Given the description of an element on the screen output the (x, y) to click on. 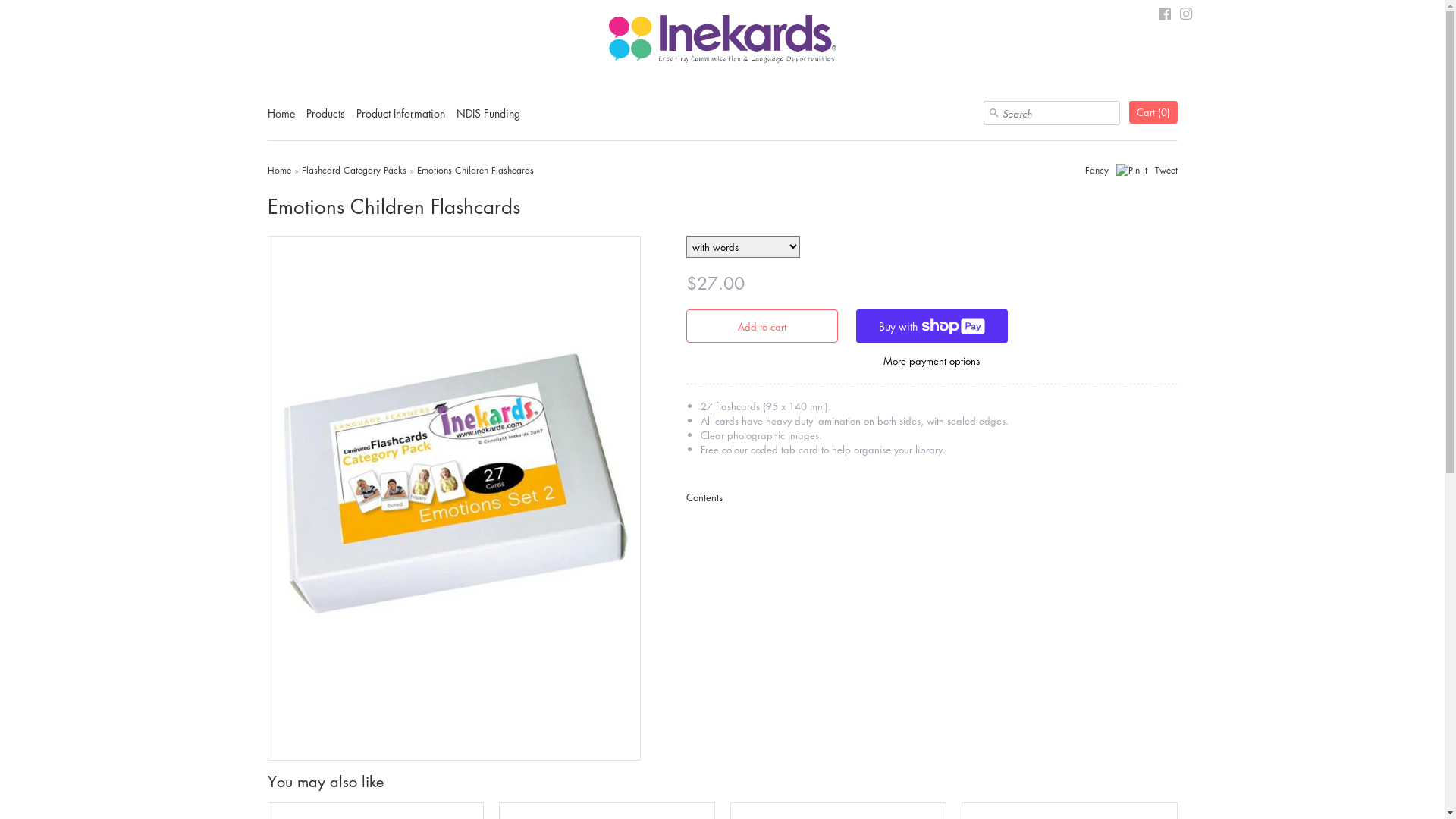
Products Element type: text (325, 118)
Contents Element type: text (703, 496)
Add to cart Element type: text (761, 325)
Pin It Element type: hover (1131, 170)
Flashcard Category Packs Element type: text (353, 169)
Home Element type: text (280, 118)
Home Element type: text (278, 169)
Product Information Element type: text (400, 118)
Inekards Flashcards Element type: hover (721, 40)
More payment options Element type: text (931, 360)
NDIS Funding Element type: text (488, 118)
Search Element type: text (993, 112)
Instagram Element type: text (1185, 15)
Cart (0) Element type: text (1152, 111)
Facebook Element type: text (1164, 15)
Fancy Element type: text (1095, 169)
Emotions Children Flashcards Element type: text (475, 169)
Tweet Element type: text (1165, 169)
